Given the description of an element on the screen output the (x, y) to click on. 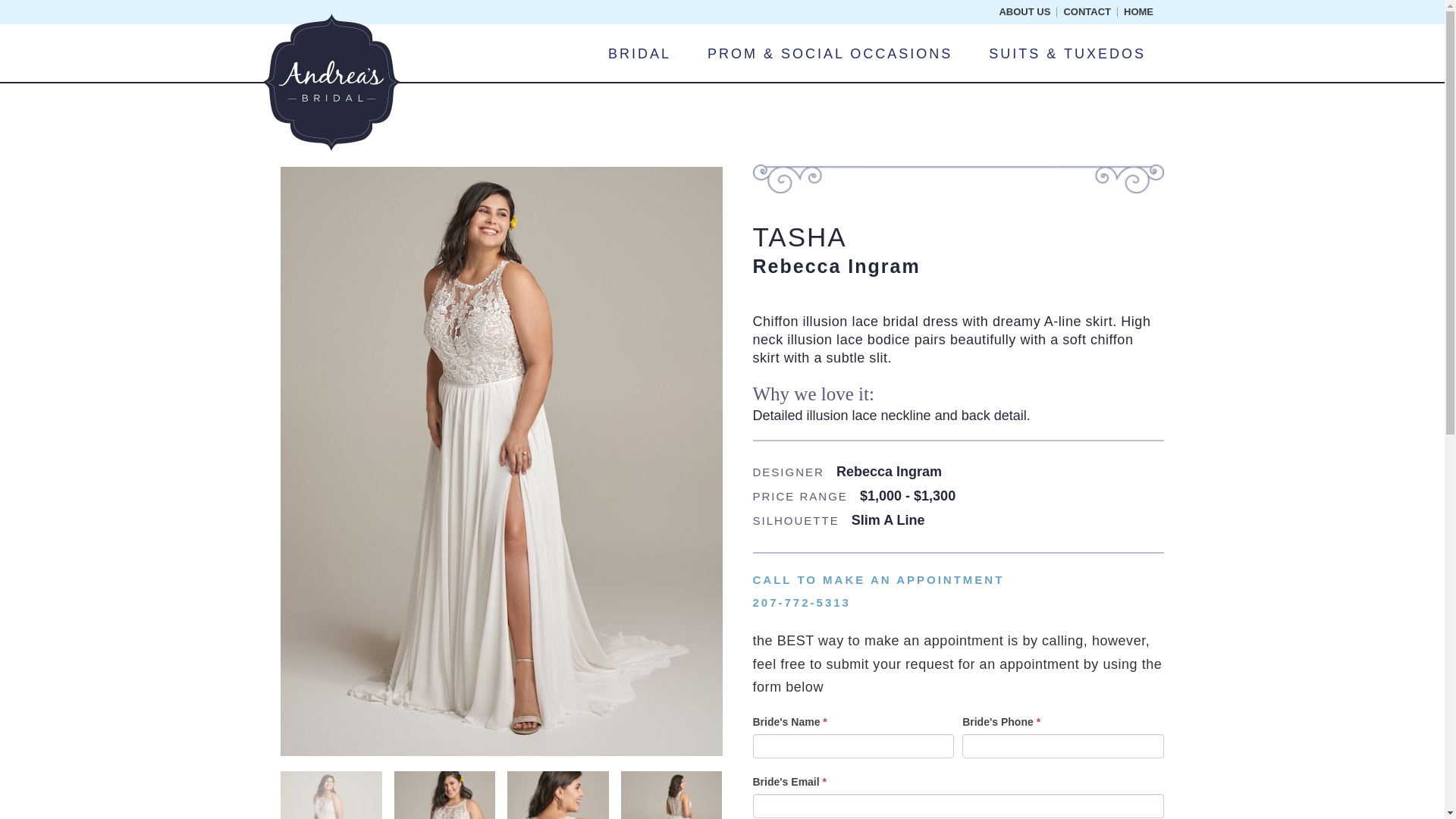
ABOUT US (1026, 11)
BRIDAL (638, 53)
HOME (1137, 11)
CONTACT (1089, 11)
